Given the description of an element on the screen output the (x, y) to click on. 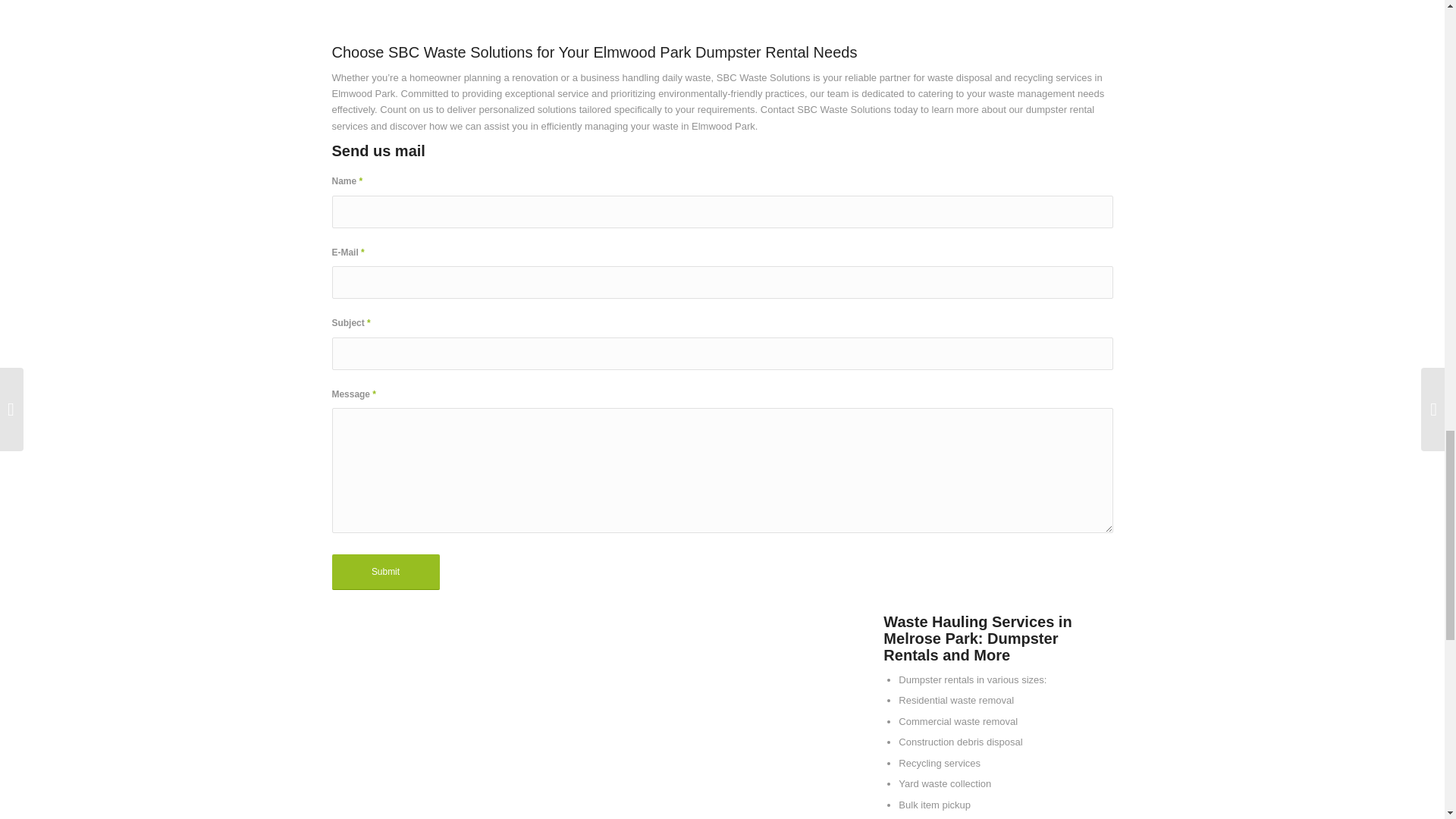
Submit (385, 571)
